Given the description of an element on the screen output the (x, y) to click on. 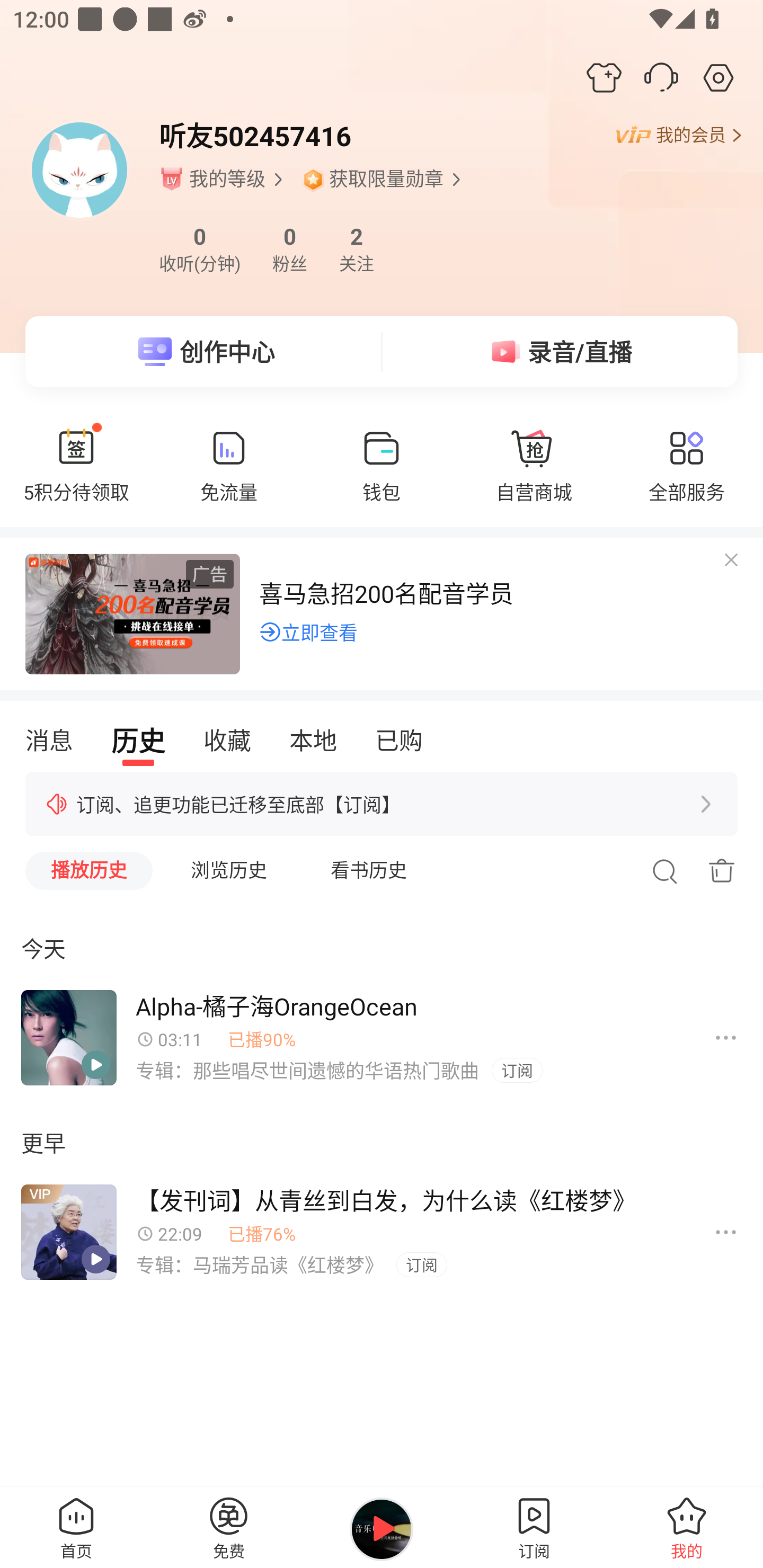
装扮中心 (603, 77)
客服 (660, 77)
设置 (717, 77)
听友502457416 (254, 135)
我的会员 (677, 135)
等级角标 我的等级 (222, 179)
获取限量勋章 (382, 179)
0 收听(分钟) (199, 249)
0 粉丝 (289, 249)
2 关注 (355, 249)
创作中心 (203, 351)
录音/直播 (559, 351)
5积分待领取 (76, 474)
免流量 (228, 474)
钱包 (381, 474)
自营商城 (533, 474)
全部服务 (686, 474)
喜马急招200名配音学员 立即查看 (381, 611)
关闭广告 (727, 570)
立即查看 (308, 631)
消息 (49, 740)
历史 (138, 740)
收藏 (227, 740)
本地 (313, 740)
已购 (398, 740)
订阅、追更功能已迁移至底部【订阅】 (381, 804)
播放历史 (88, 870)
浏览历史 (228, 870)
看书历史 (368, 870)
搜索历史 (664, 870)
批量删除 (721, 870)
更多 (725, 1037)
订阅 (516, 1070)
更多 (725, 1232)
订阅 (421, 1264)
首页 (76, 1526)
免费 (228, 1526)
订阅 (533, 1526)
我的 (686, 1526)
继续播放 (381, 1529)
